Given the description of an element on the screen output the (x, y) to click on. 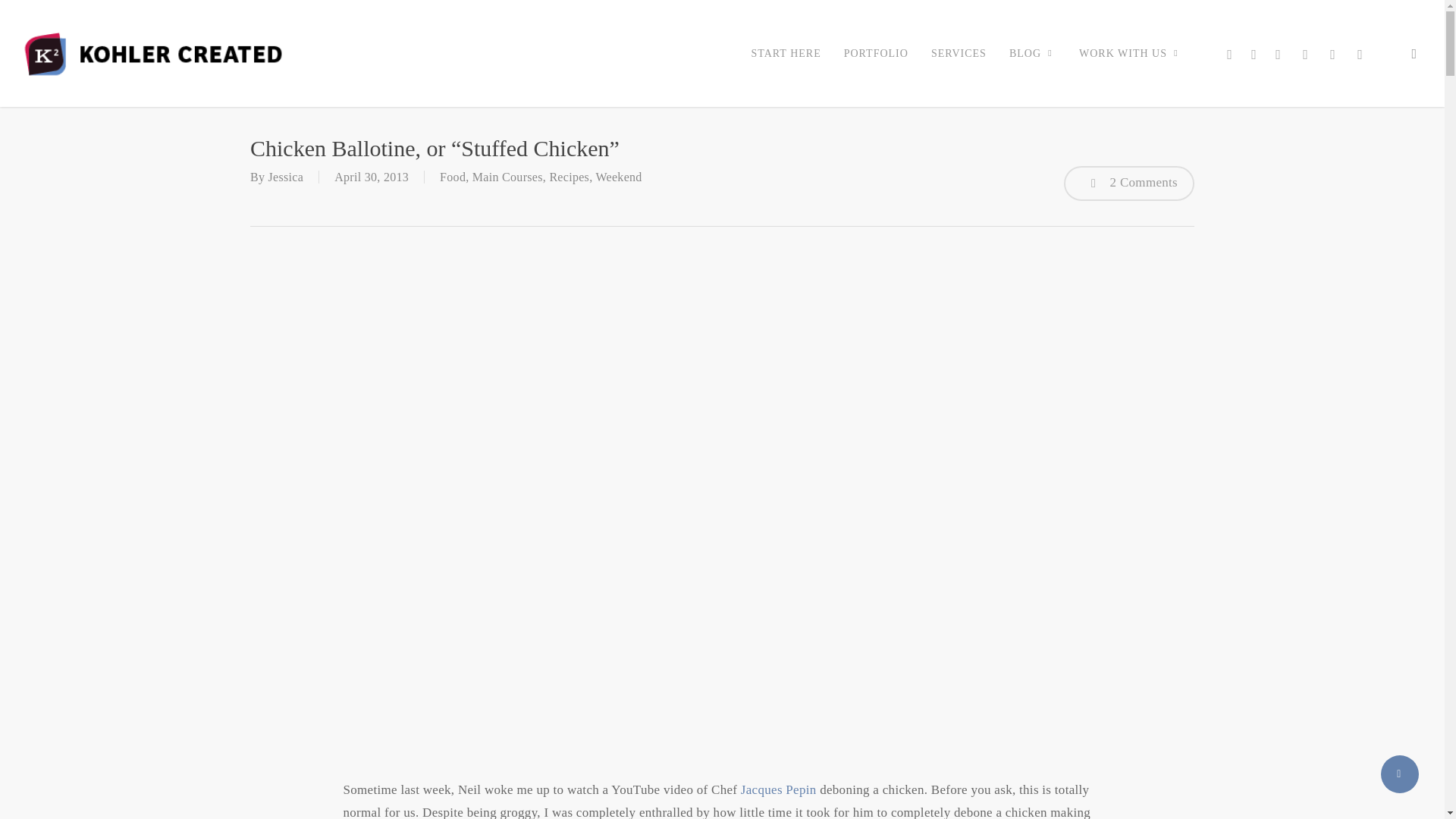
FACEBOOK (1254, 53)
Recipes (568, 176)
RSS (1332, 53)
search (1414, 52)
PORTFOLIO (876, 52)
2 Comments (1128, 183)
Portfolio (876, 52)
Food (452, 176)
TWITTER (1229, 53)
Posts by Jessica (285, 176)
WORK WITH US (1130, 53)
Start Here (785, 52)
Jessica (285, 176)
YOUTUBE (1305, 53)
PINTEREST (1278, 53)
